Given the description of an element on the screen output the (x, y) to click on. 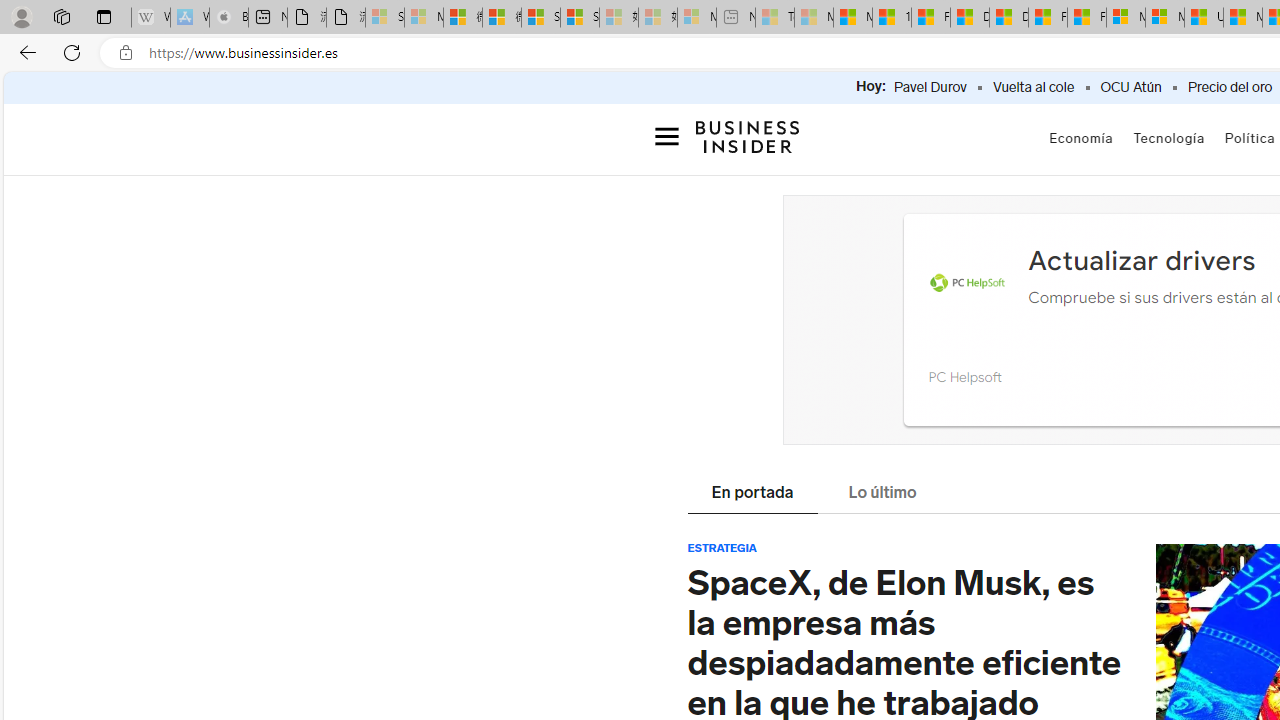
Vuelta al cole (1033, 88)
PC Helpsoft (964, 376)
Logo BusinessInsider.es (748, 136)
